Given the description of an element on the screen output the (x, y) to click on. 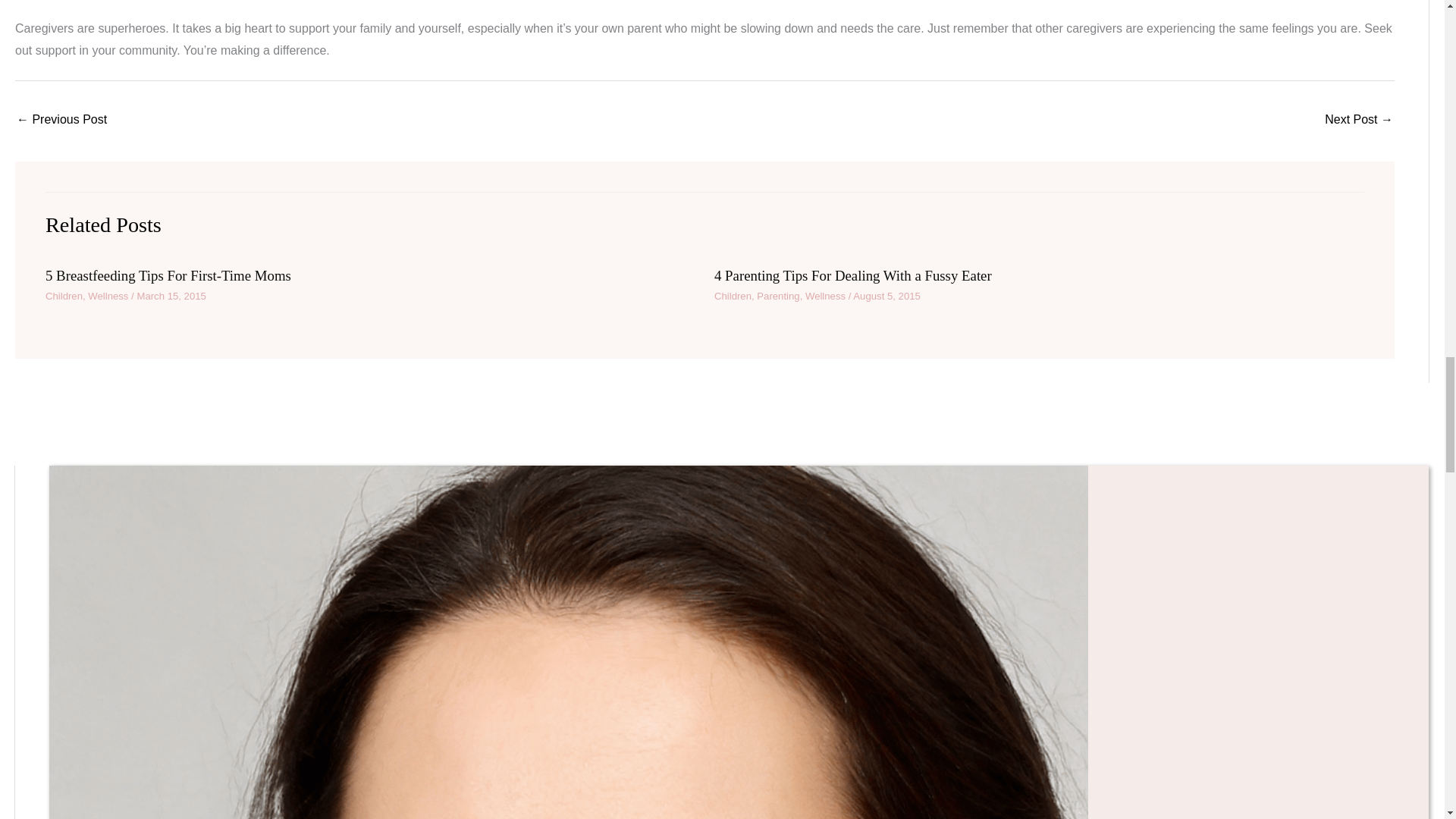
4 Parenting Tips For Dealing With a Fussy Eater (852, 275)
Children (63, 296)
Children (732, 296)
Wellness (825, 296)
Wellness (107, 296)
5 Breastfeeding Tips For First-Time Moms (168, 275)
Parenting (778, 296)
